Given the description of an element on the screen output the (x, y) to click on. 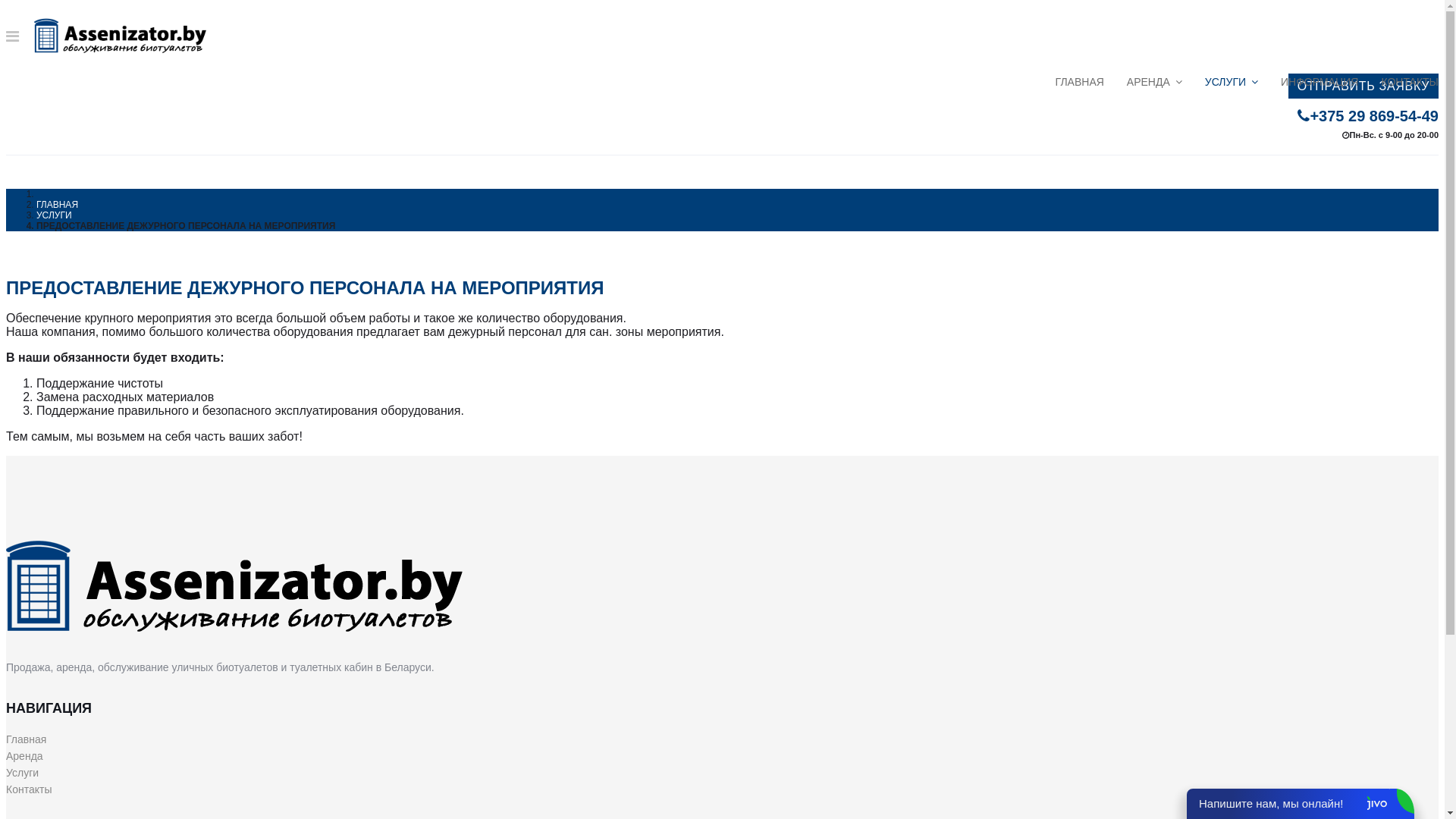
Navigation Element type: hover (12, 35)
+375 29 869-54-49 Element type: text (1367, 115)
